Given the description of an element on the screen output the (x, y) to click on. 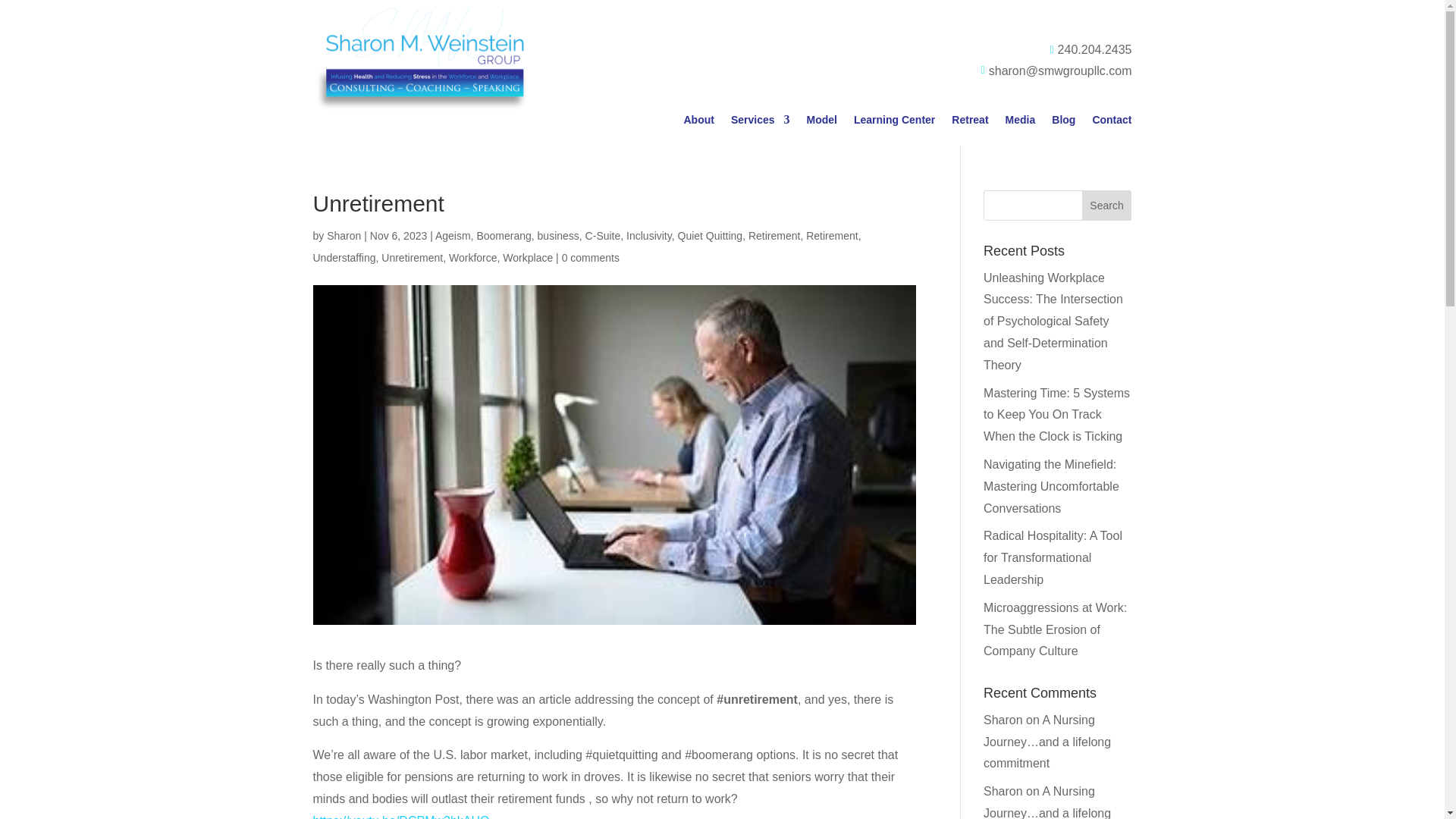
Inclusivity (648, 235)
Workforce (472, 257)
New logo.11.24.23 (421, 60)
Understaffing (344, 257)
Blog (1063, 122)
Retirement (831, 235)
0 comments (591, 257)
Boomerang (503, 235)
Sharon (343, 235)
